Given the description of an element on the screen output the (x, y) to click on. 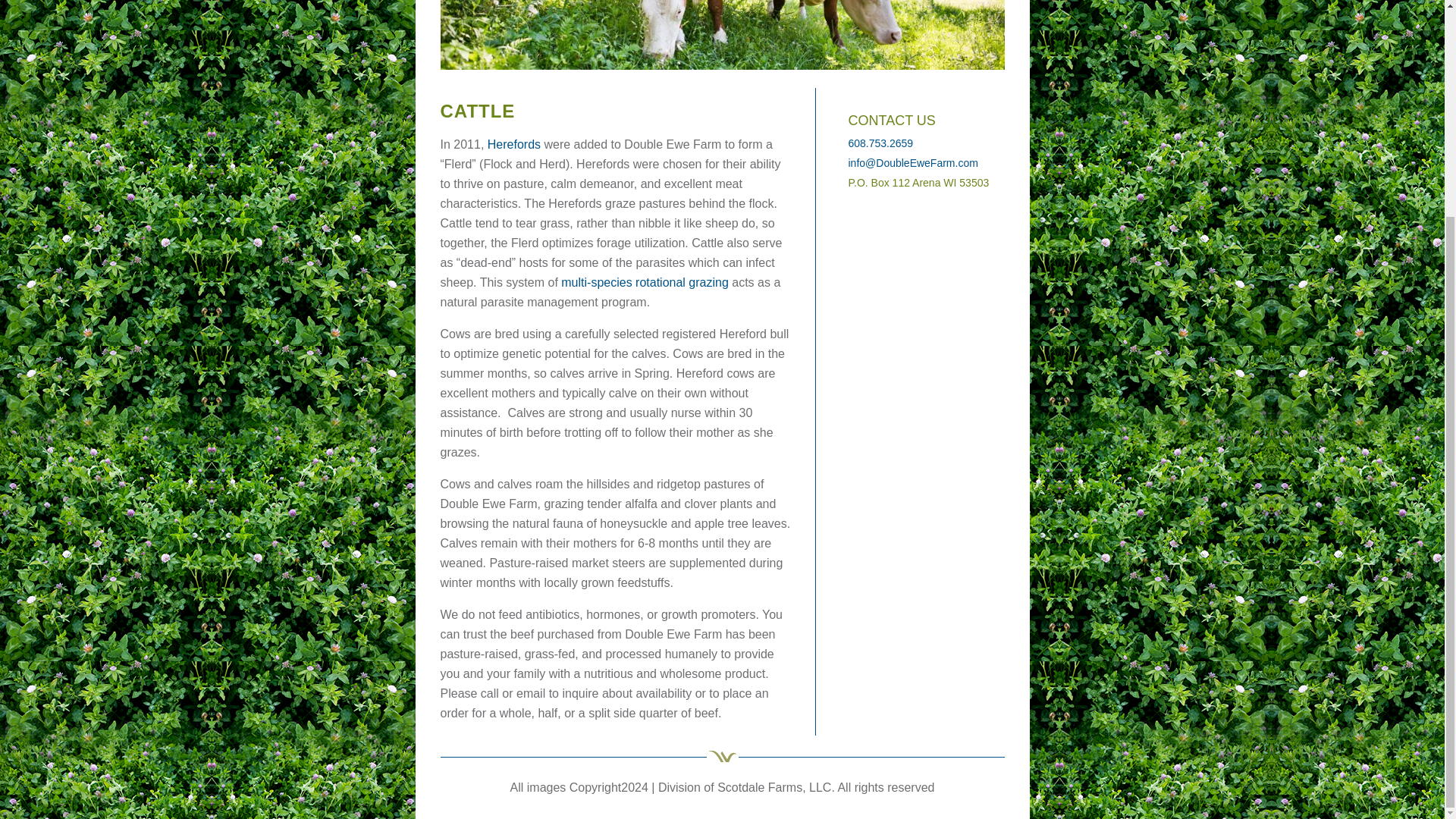
608.753.2659 (879, 143)
Herefords (513, 144)
multi-species rotational grazing (644, 282)
